Given the description of an element on the screen output the (x, y) to click on. 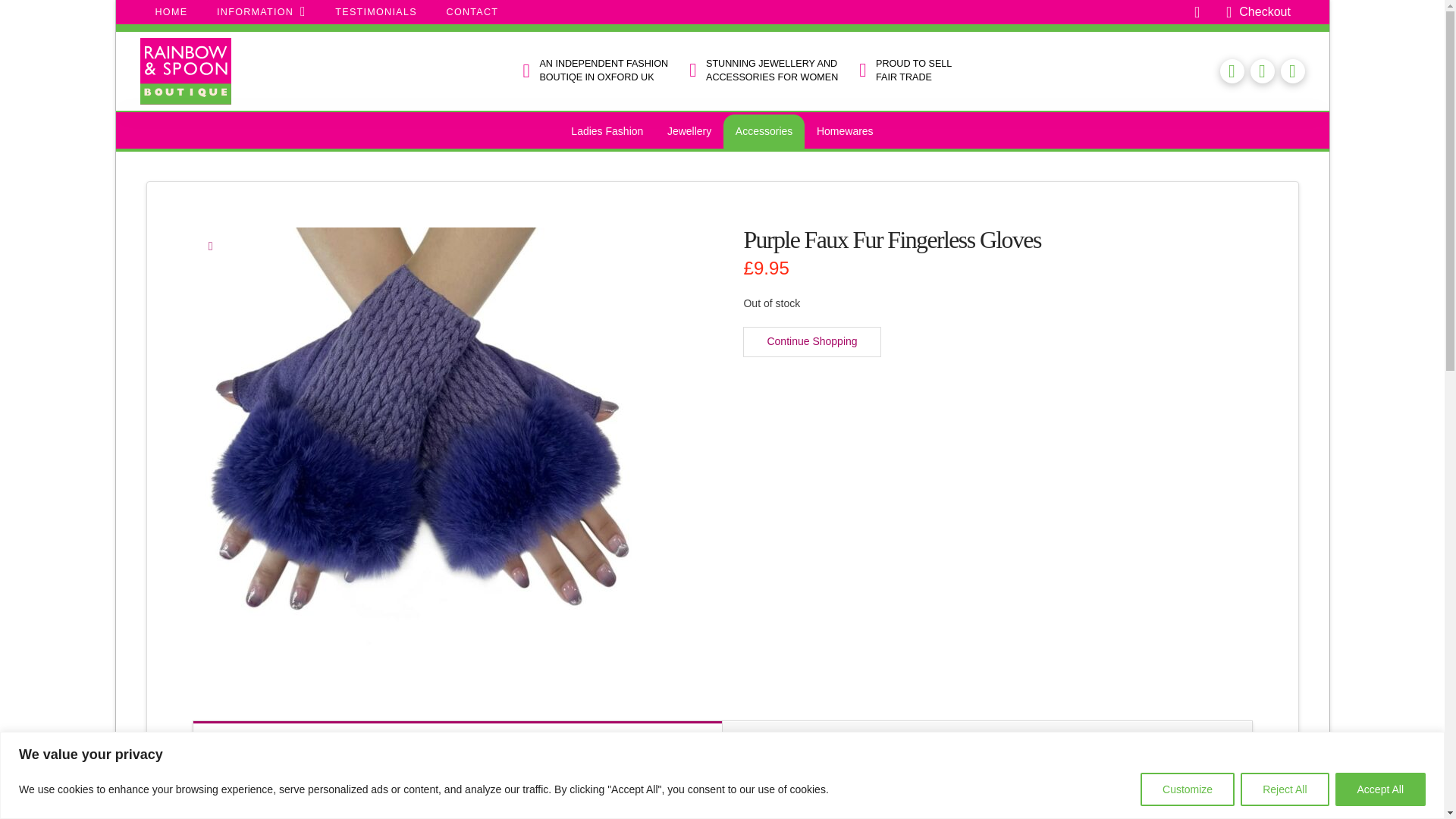
Checkout (1257, 15)
CONTACT (471, 12)
Ladies Fashion (607, 131)
Homewares (845, 131)
HOME (170, 12)
Accessories (764, 131)
Accept All (1380, 788)
TESTIMONIALS (375, 12)
Jewellery (689, 131)
Reject All (1283, 788)
